Given the description of an element on the screen output the (x, y) to click on. 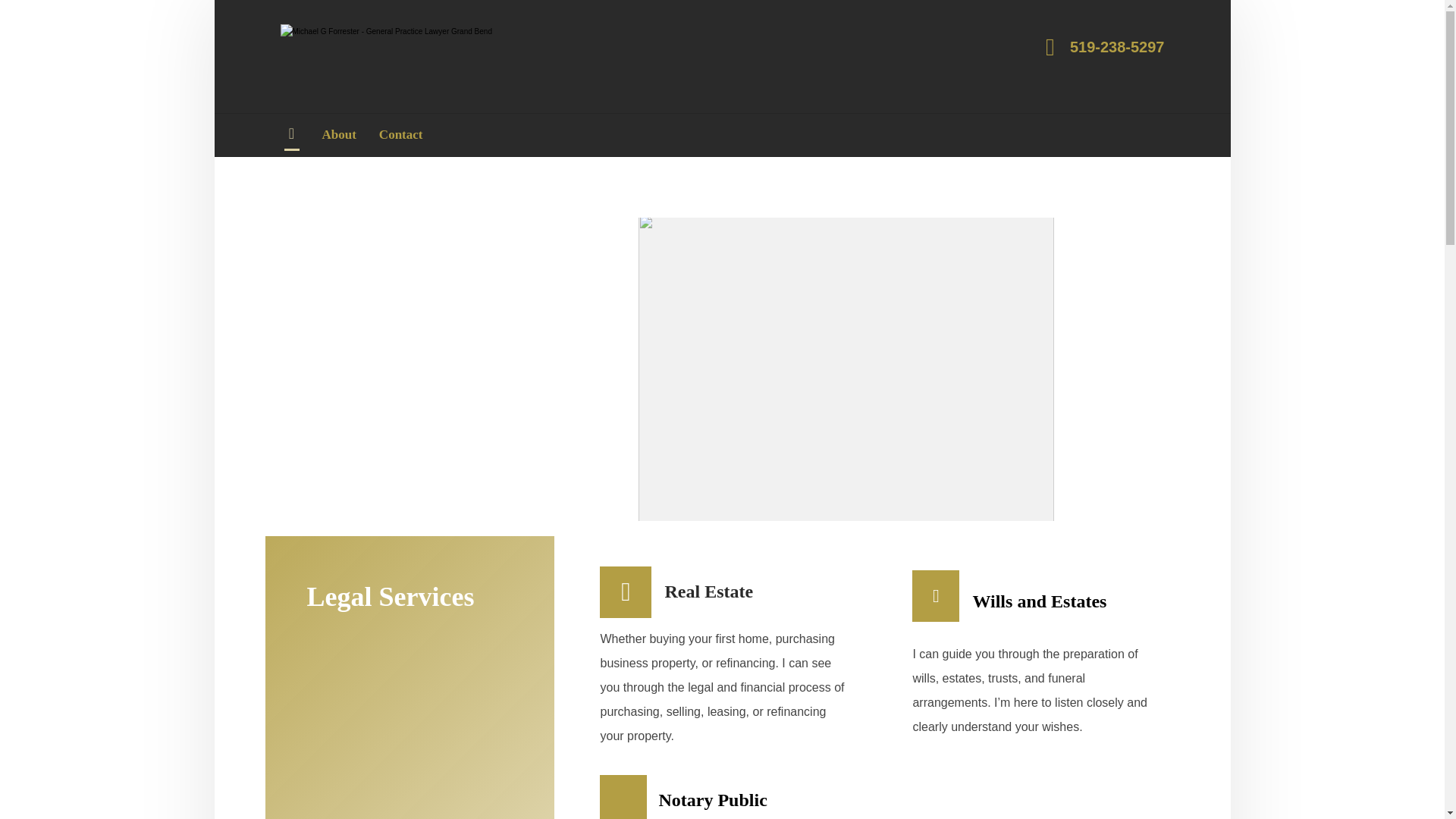
Contact (400, 134)
General Practice Lawyer Serving Grand Bend and Area (413, 57)
519-238-5297 (1101, 45)
icon7 (623, 798)
About (338, 134)
